Given the description of an element on the screen output the (x, y) to click on. 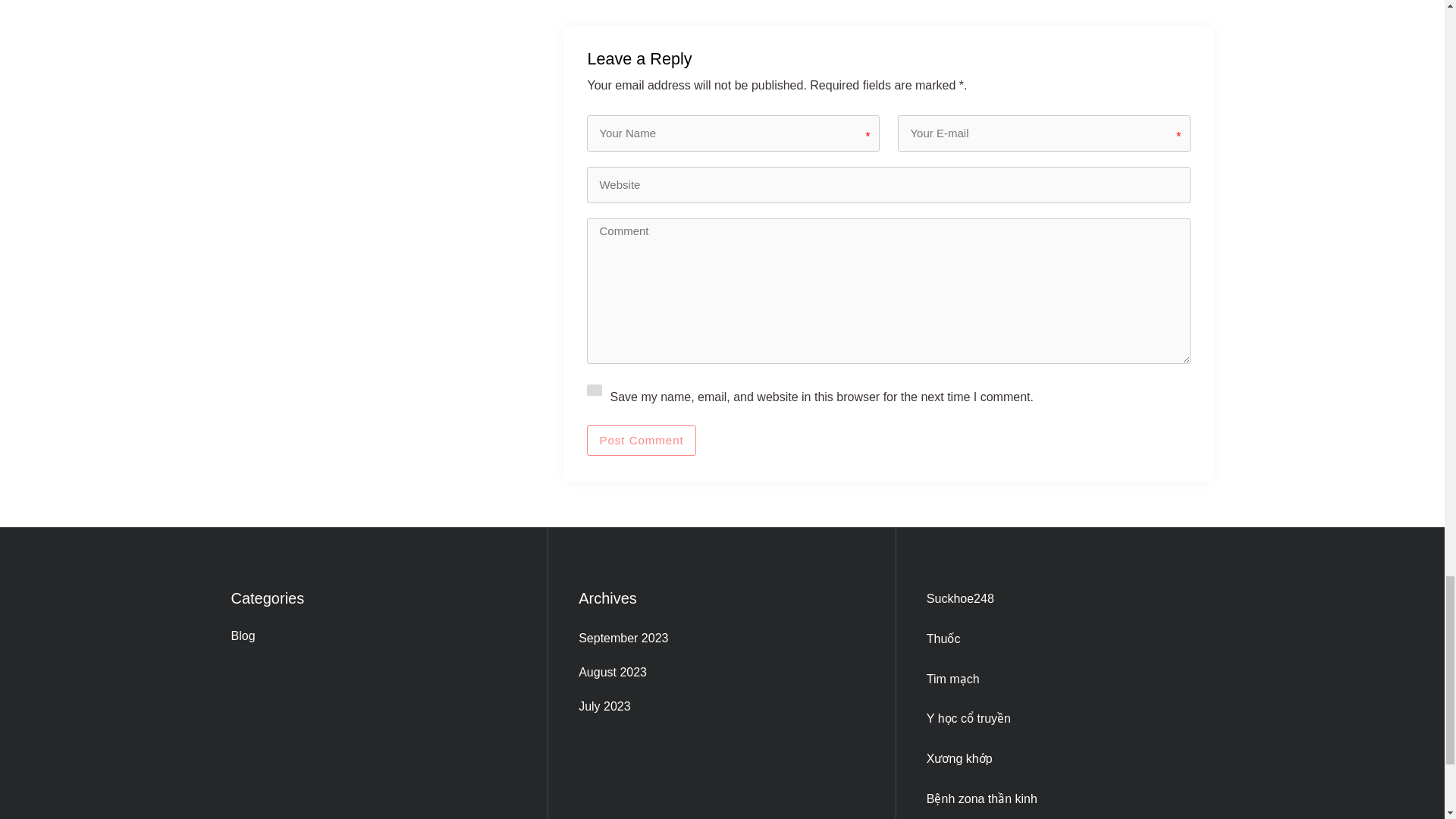
Blog (373, 636)
yes (594, 389)
July 2023 (721, 707)
August 2023 (721, 672)
September 2023 (721, 639)
Post Comment (640, 440)
Suckhoe248 (960, 598)
